Given the description of an element on the screen output the (x, y) to click on. 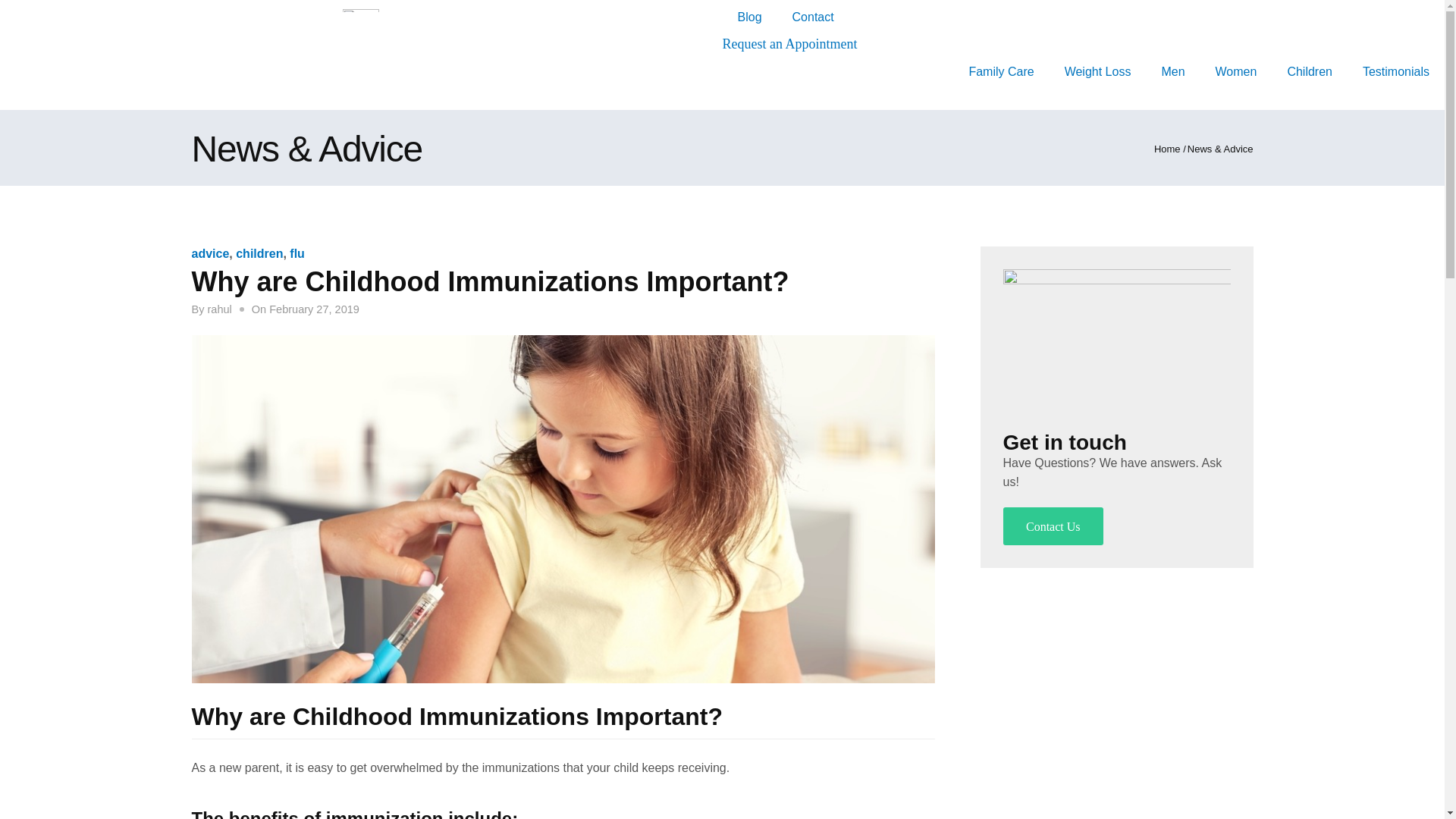
Request an Appointment (789, 44)
Contact (812, 17)
Posts by rahul (218, 309)
Family Care (1000, 71)
Men (1172, 71)
Weight Loss (1098, 71)
Blog (749, 17)
